Given the description of an element on the screen output the (x, y) to click on. 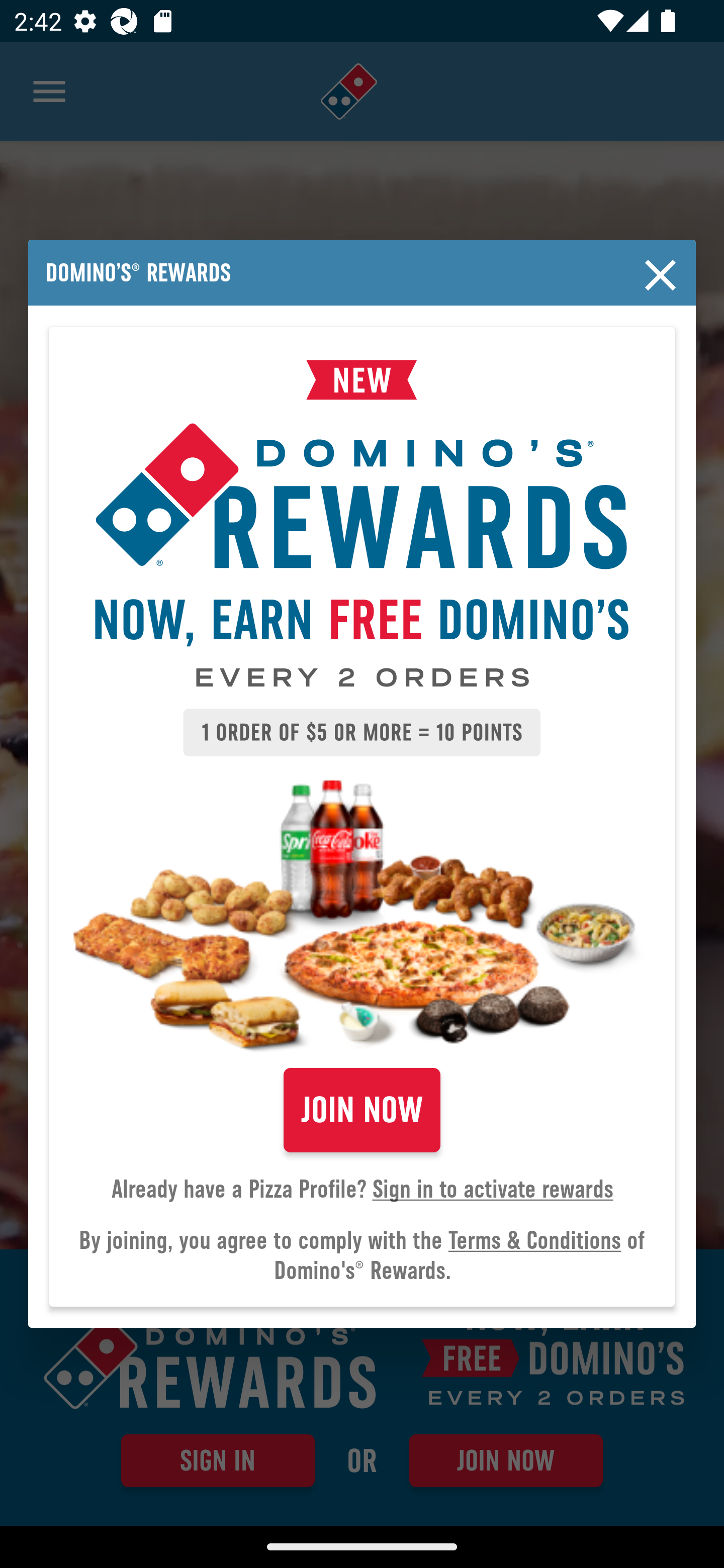
Close (660, 275)
JOIN NOW (361, 1109)
